Given the description of an element on the screen output the (x, y) to click on. 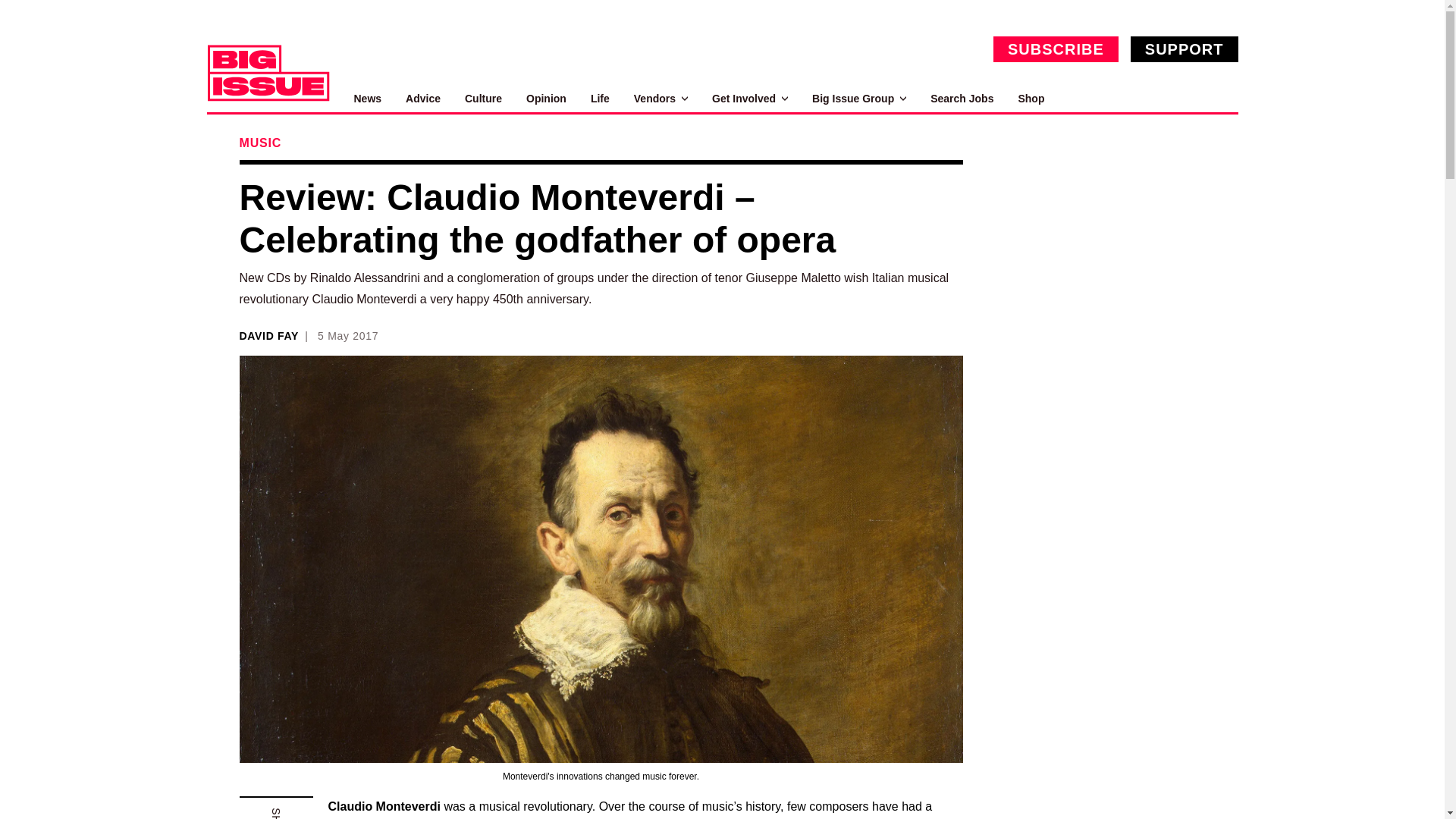
Big Issue Group (858, 98)
Get Involved (749, 98)
Search Jobs (961, 98)
Culture (483, 98)
Vendors (660, 98)
Support (1185, 49)
SUBSCRIBE (1055, 49)
Opinion (545, 98)
Search (1220, 98)
SUPPORT (1185, 49)
Subscribe (1055, 49)
Advice (423, 98)
